Given the description of an element on the screen output the (x, y) to click on. 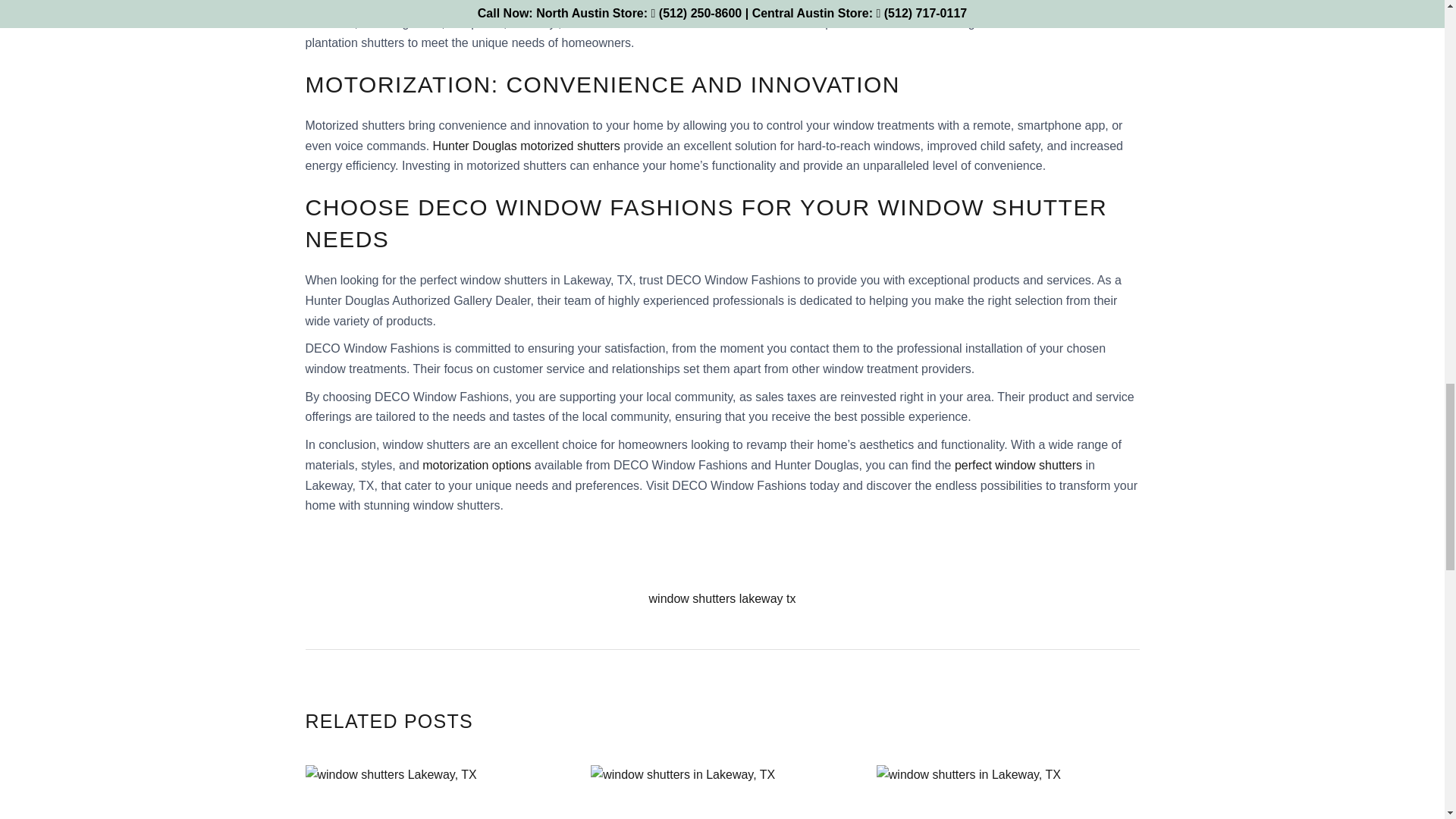
Maximizing Efficiency with Motorized Window Coverings (722, 791)
Choose Quality with Hunter Douglas Products (1008, 791)
Discover Timeless Elegance with Classic Window Shutters (435, 791)
